Given the description of an element on the screen output the (x, y) to click on. 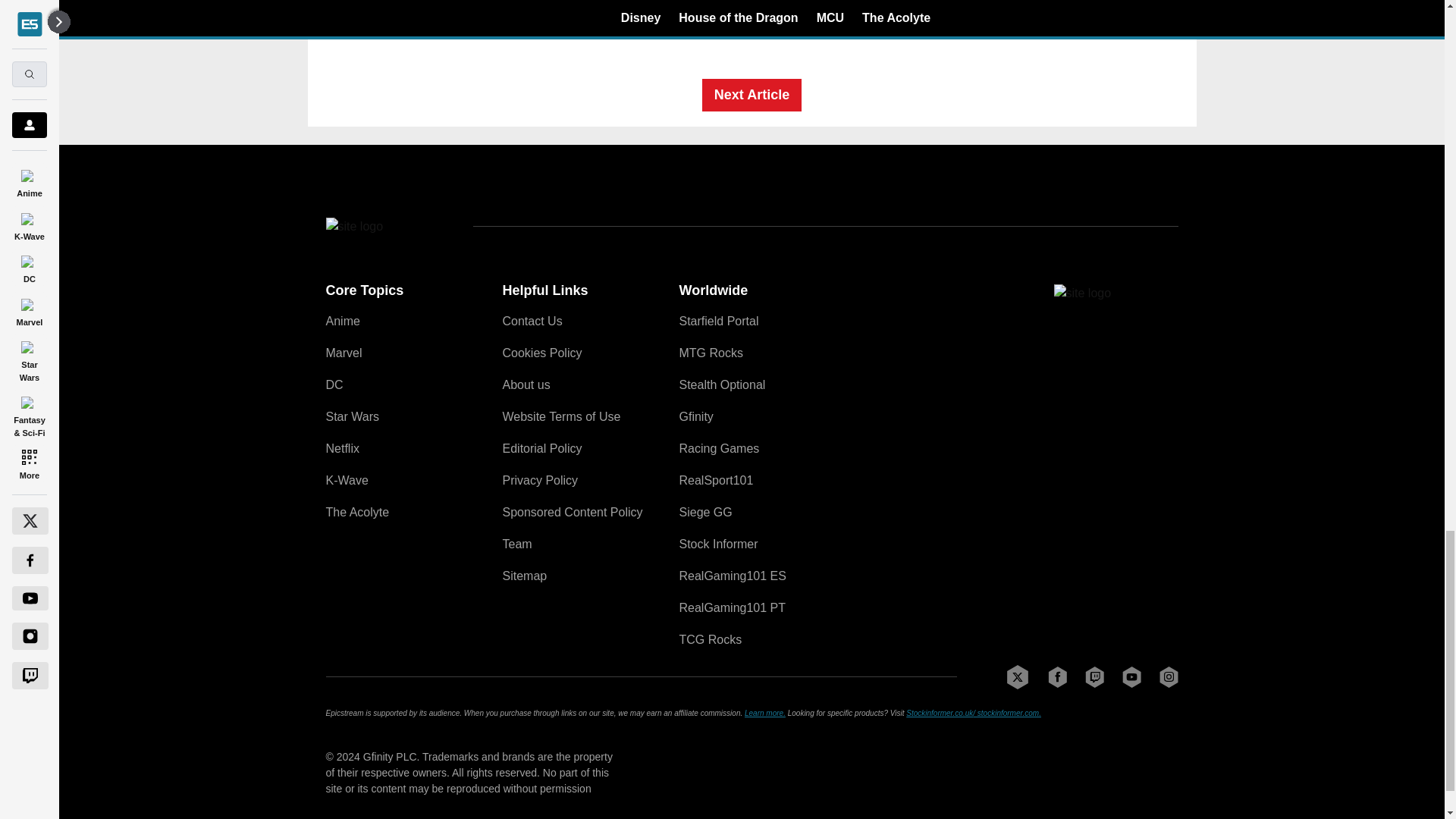
Latest News (1063, 2)
